Given the description of an element on the screen output the (x, y) to click on. 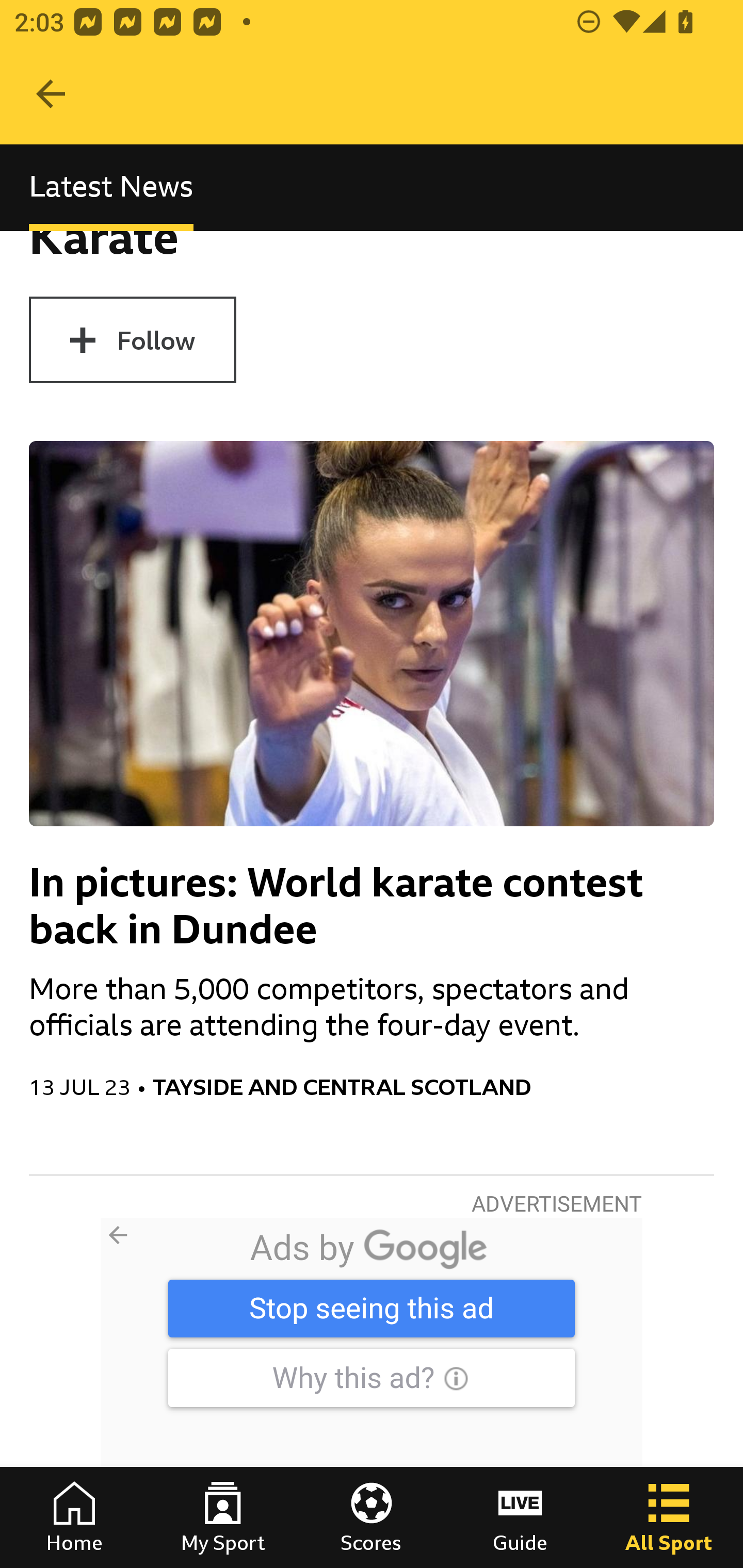
Navigate up (50, 93)
Latest News, selected Latest News (111, 187)
Follow Karate Follow (132, 339)
Home (74, 1517)
My Sport (222, 1517)
Scores (371, 1517)
Guide (519, 1517)
